Given the description of an element on the screen output the (x, y) to click on. 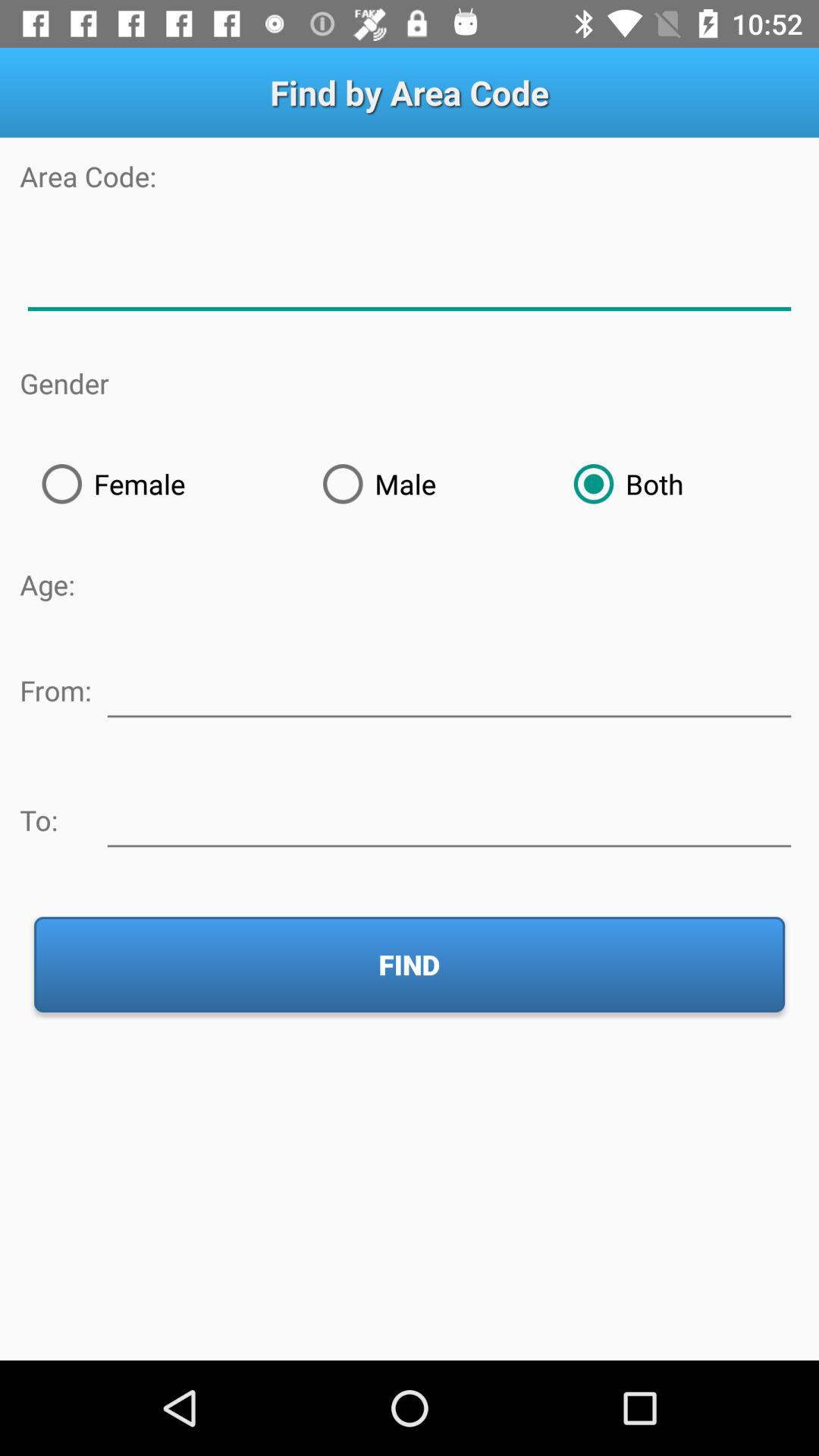
scroll until both (674, 483)
